Given the description of an element on the screen output the (x, y) to click on. 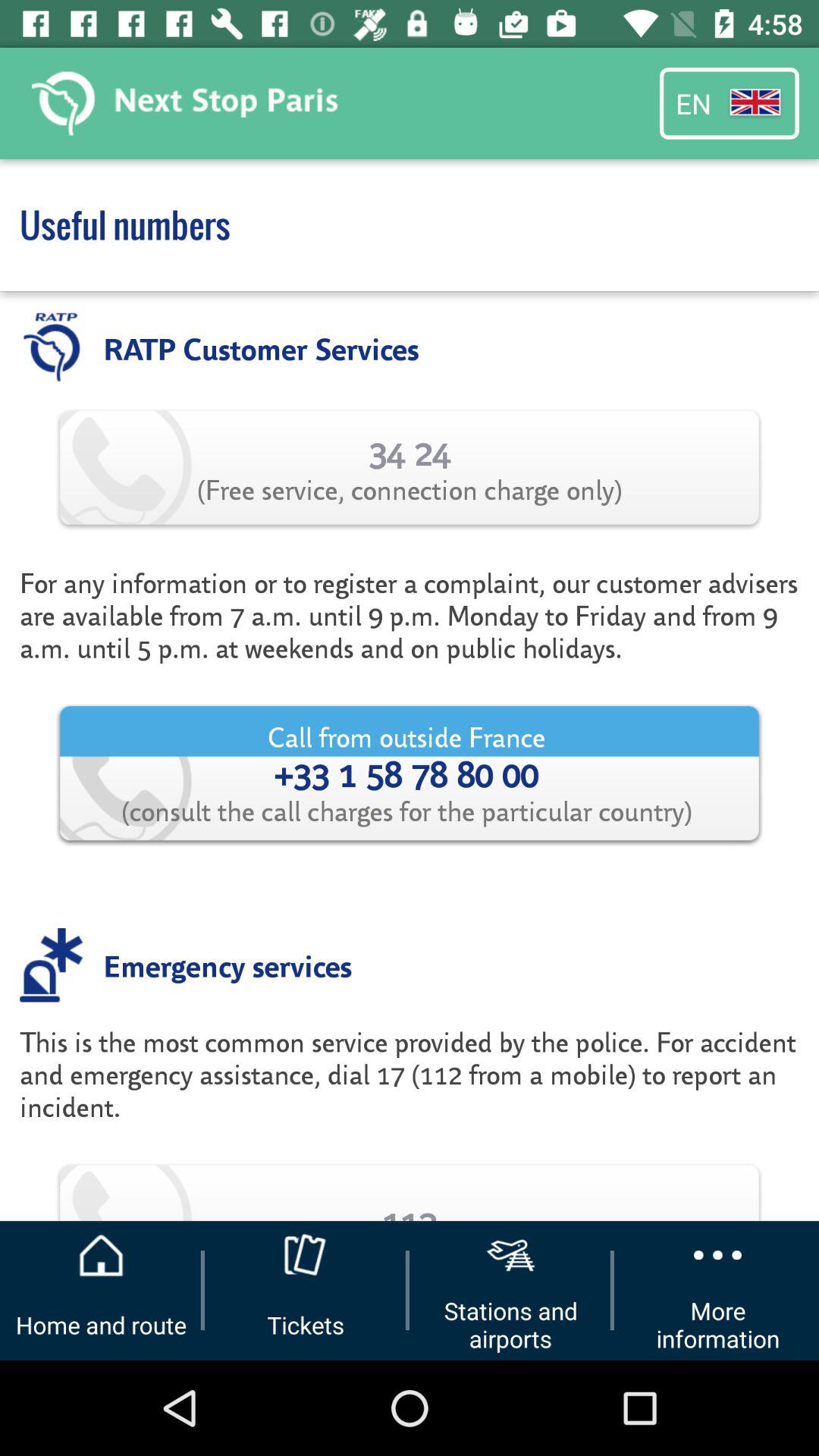
select the item above the 34 24 free app (261, 347)
